Given the description of an element on the screen output the (x, y) to click on. 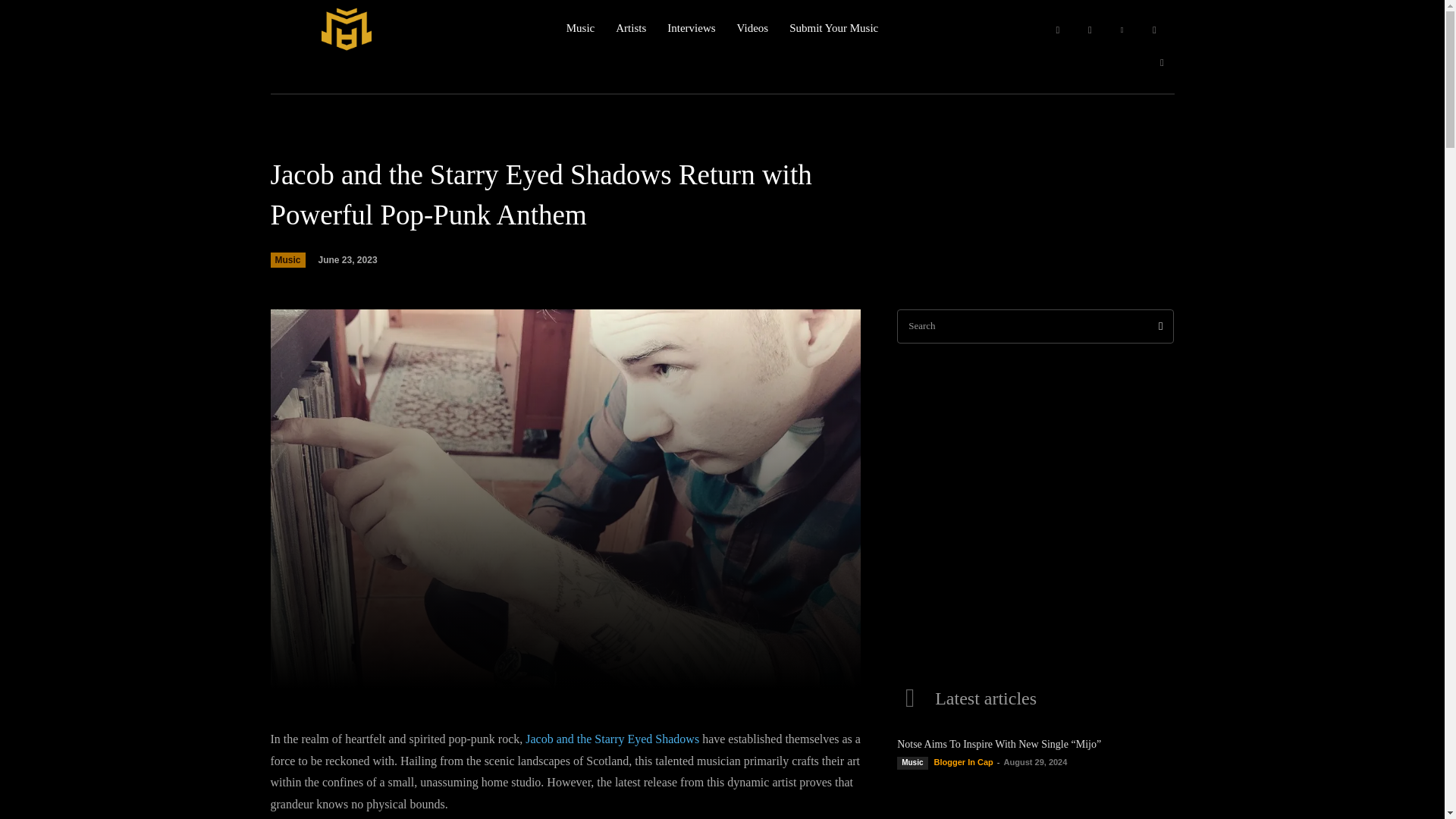
Twitter (1162, 62)
Medium (1154, 30)
Submit Your Music (833, 28)
Jacob and the Starry Eyed Shadows (611, 738)
Facebook (1057, 30)
Linkedin (1122, 30)
Music (286, 259)
Instagram (1089, 30)
